Given the description of an element on the screen output the (x, y) to click on. 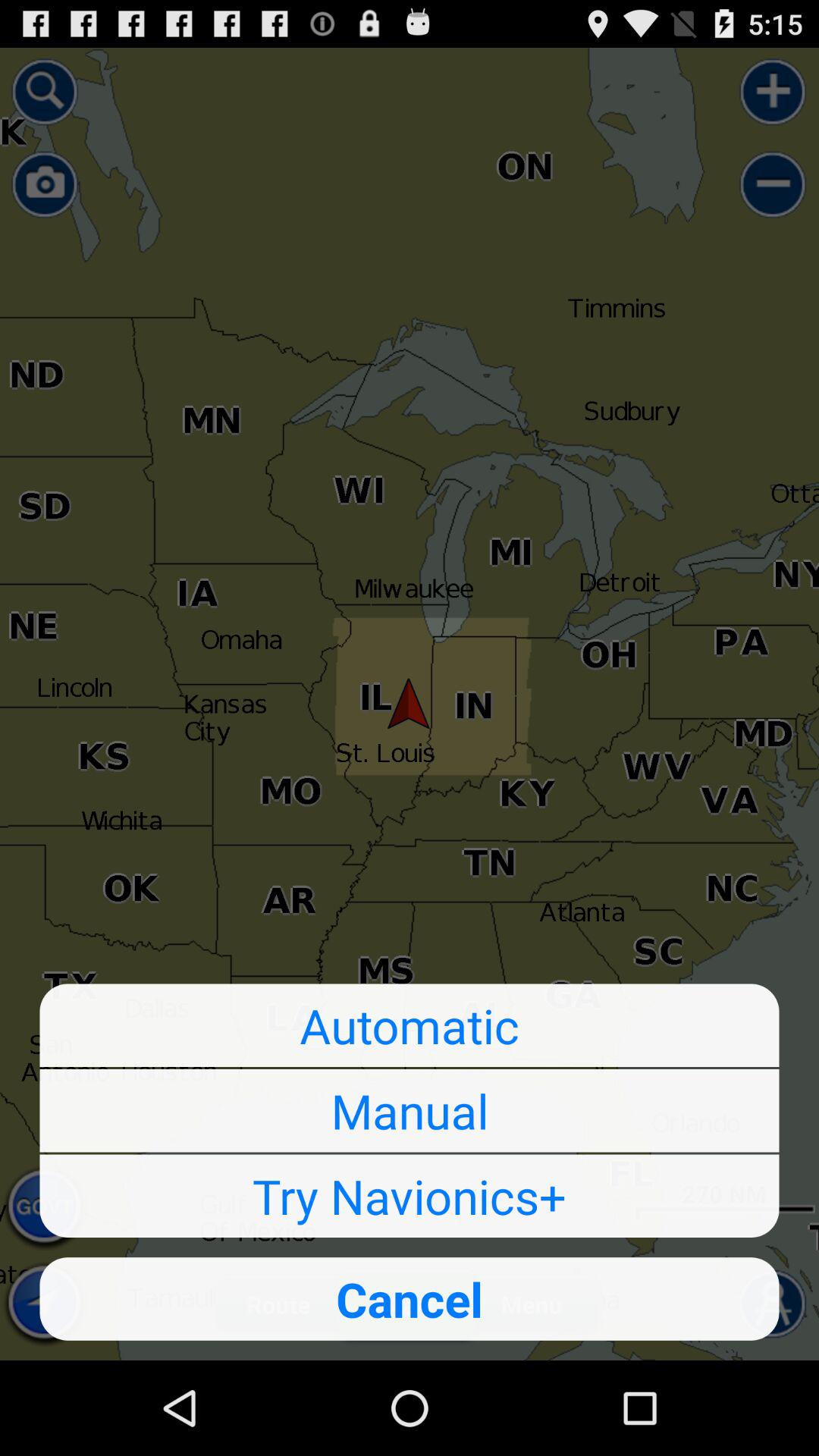
click icon above the try navionics+ button (409, 1110)
